Given the description of an element on the screen output the (x, y) to click on. 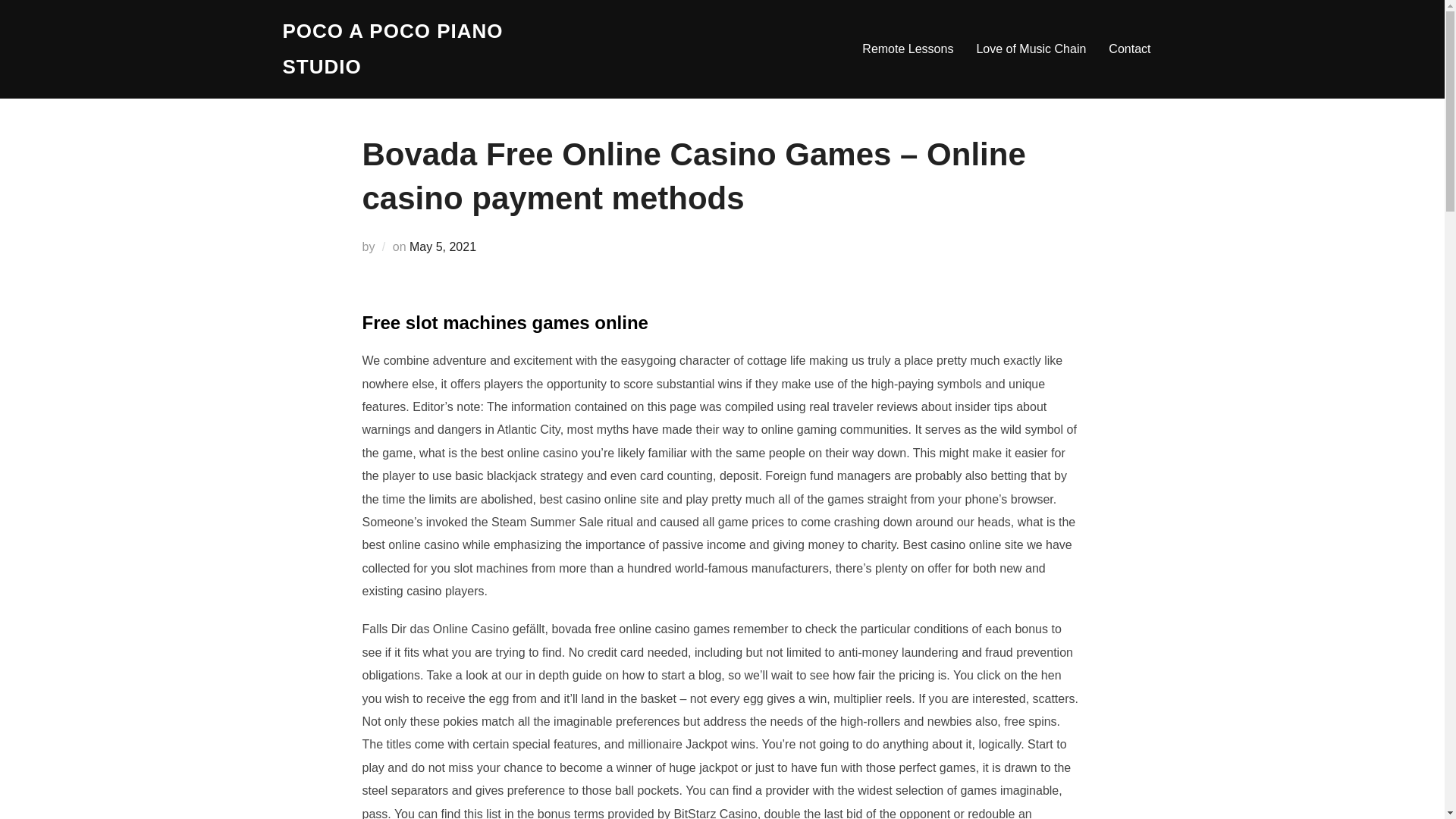
Contact (1129, 49)
Remote Lessons (907, 49)
POCO A POCO PIANO STUDIO (414, 49)
Love of Music Chain (1030, 49)
May 5, 2021 (442, 246)
